Given the description of an element on the screen output the (x, y) to click on. 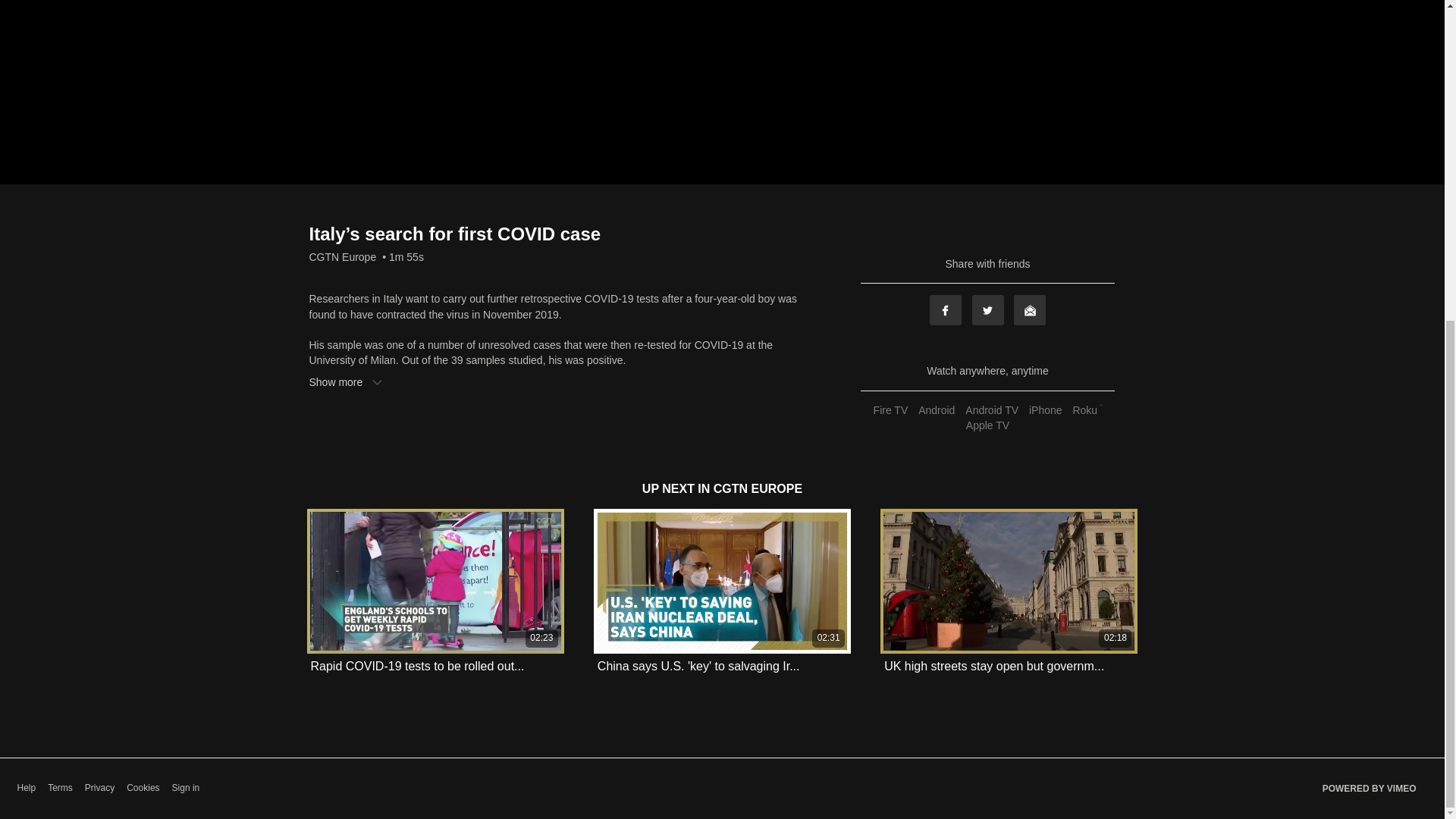
Rapid COVID-19 tests to be rolled out... (417, 666)
02:23 (434, 580)
CGTN EUROPE (757, 488)
CGTN Europe (342, 256)
Terms (60, 788)
Help (25, 788)
Email (1029, 309)
02:18 (1008, 580)
Cookies (142, 788)
Android TV (991, 410)
iPhone (1045, 410)
China says U.S. 'key' to salvaging Ir... (697, 666)
UK high streets stay open but governm... (993, 666)
Privacy (99, 788)
Apple TV (987, 425)
